Given the description of an element on the screen output the (x, y) to click on. 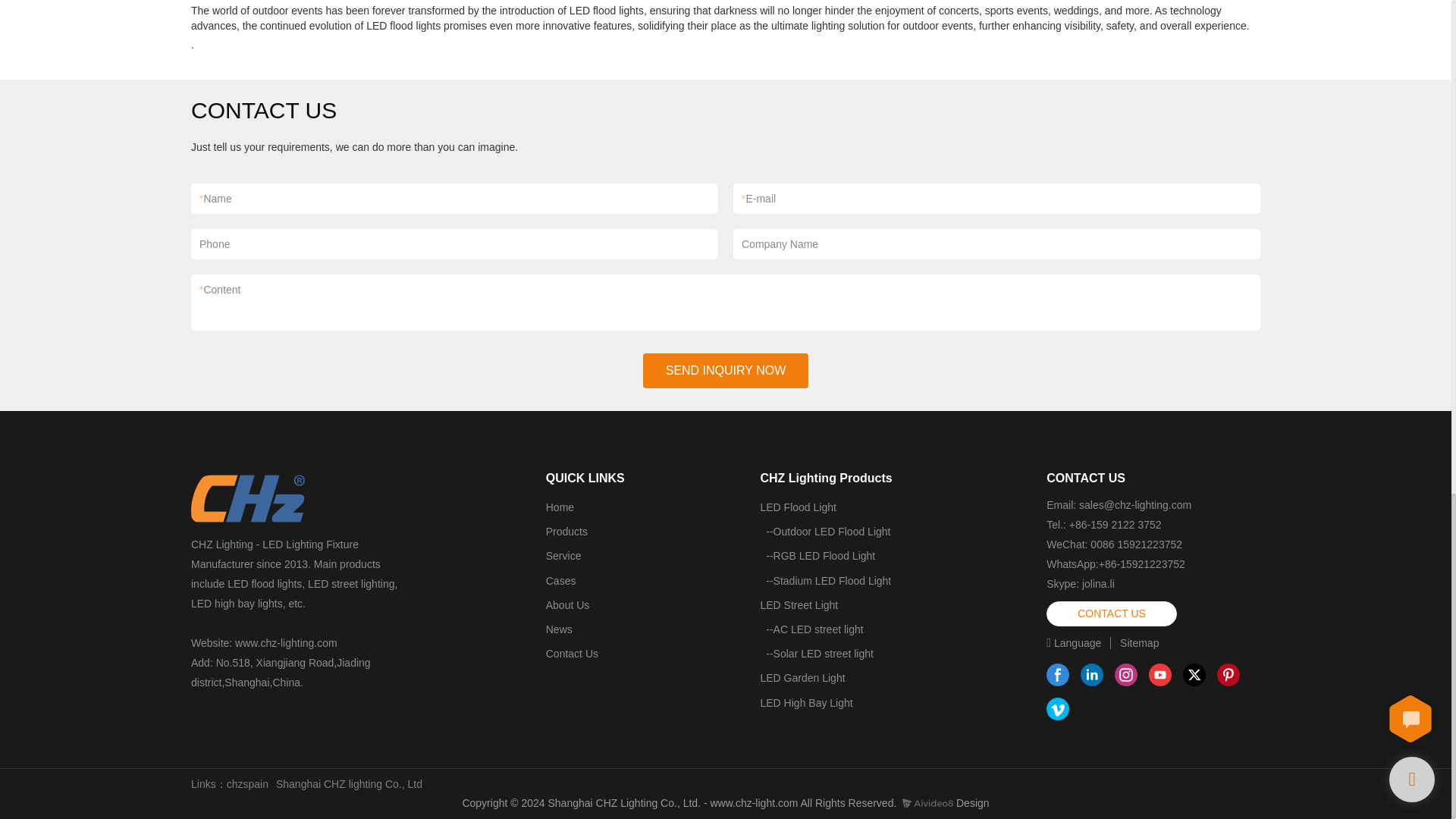
SEND INQUIRY NOW (726, 370)
